Given the description of an element on the screen output the (x, y) to click on. 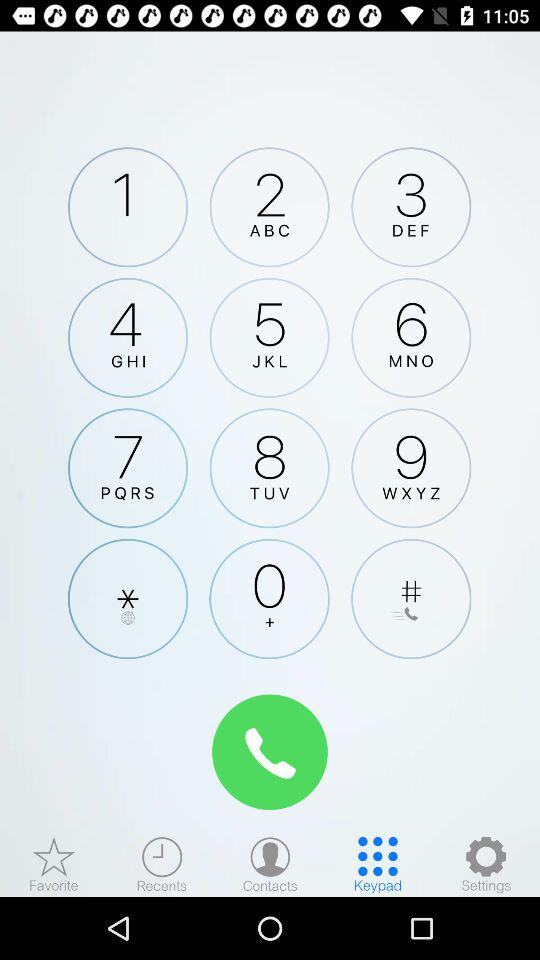
settings (485, 864)
